Given the description of an element on the screen output the (x, y) to click on. 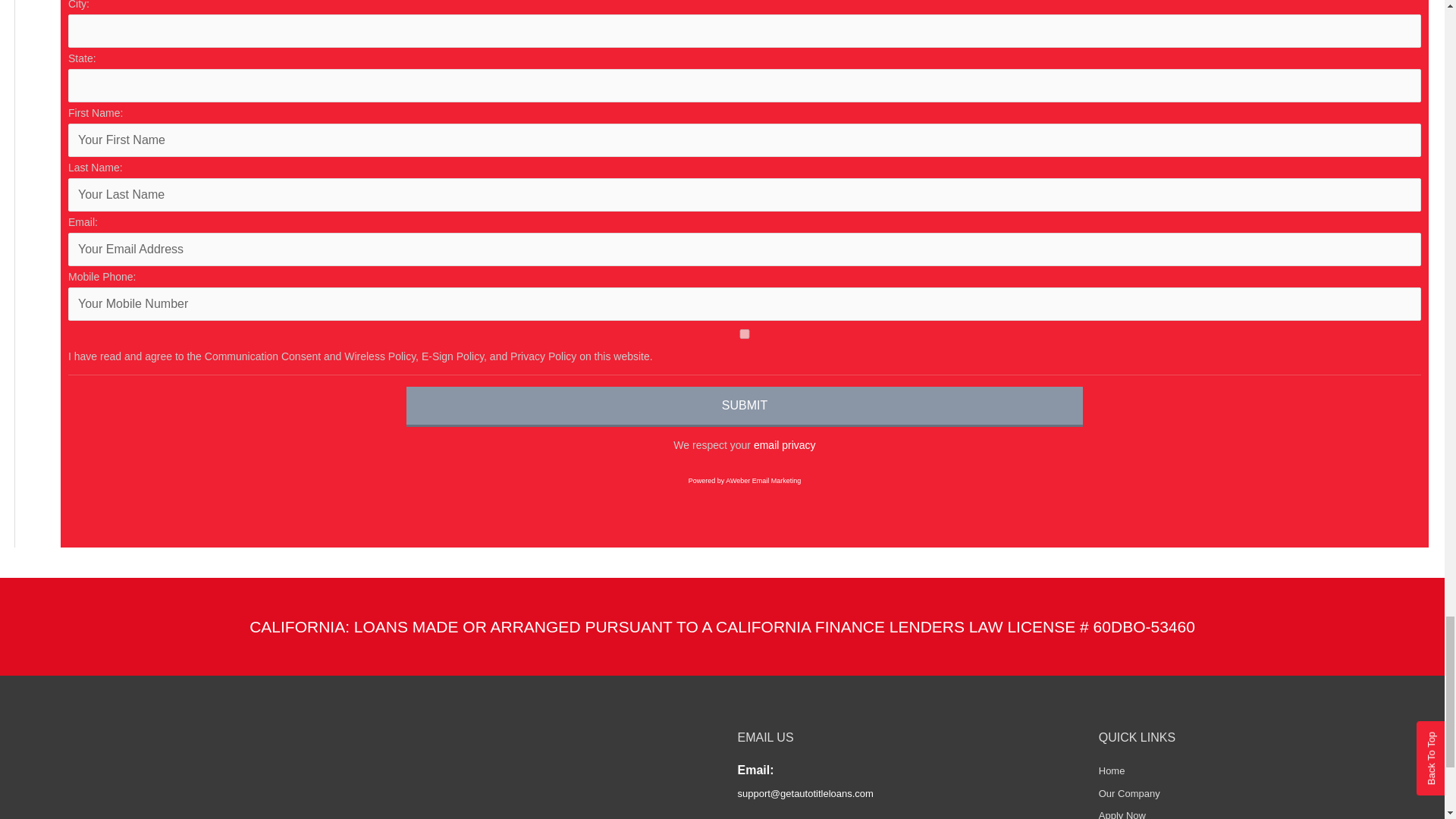
AWeber Email Marketing (745, 480)
Our Company (1129, 793)
Home (1112, 770)
Privacy Policy (784, 444)
Submit (744, 406)
Your Mobile Number (744, 304)
email privacy (784, 444)
Your First Name (744, 140)
Your Email Address (744, 249)
Powered by AWeber Email Marketing (745, 480)
Submit (744, 406)
Apply Now (1122, 814)
Your Last Name (744, 194)
